Given the description of an element on the screen output the (x, y) to click on. 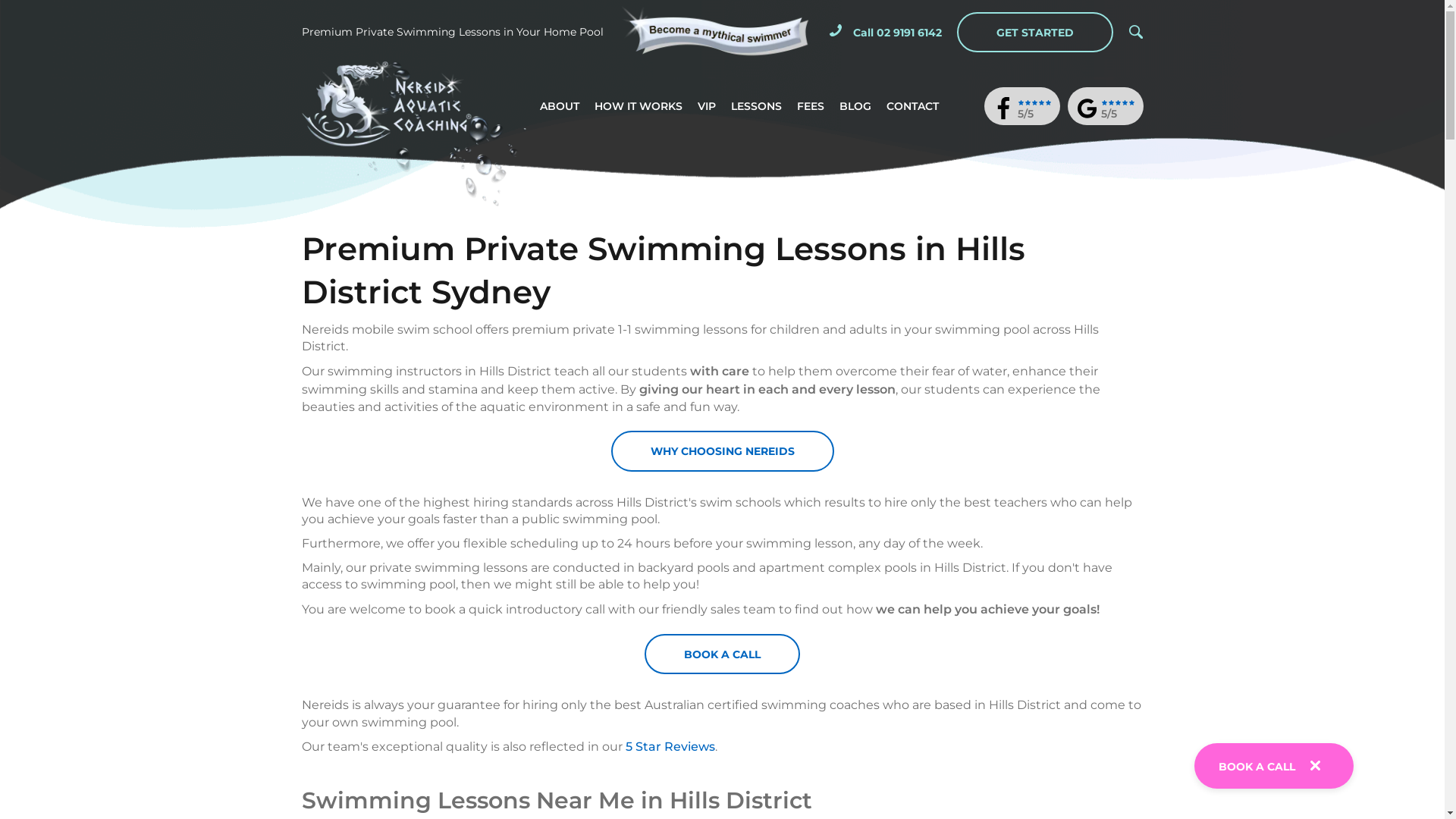
BLOG Element type: text (854, 105)
5/5 Element type: text (1104, 110)
GET STARTED Element type: text (1035, 32)
5 Star Reviews Element type: text (669, 746)
HOW IT WORKS Element type: text (638, 105)
CONTACT Element type: text (912, 105)
LESSONS Element type: text (756, 105)
BOOK A CALL Element type: text (1256, 766)
VIP Element type: text (706, 105)
ABOUT Element type: text (559, 105)
BOOK A CALL Element type: text (722, 653)
5/5 Element type: text (1021, 110)
Call 02 9191 6142 Element type: text (885, 31)
FEES Element type: text (810, 105)
WHY CHOOSING NEREIDS Element type: text (722, 450)
